Given the description of an element on the screen output the (x, y) to click on. 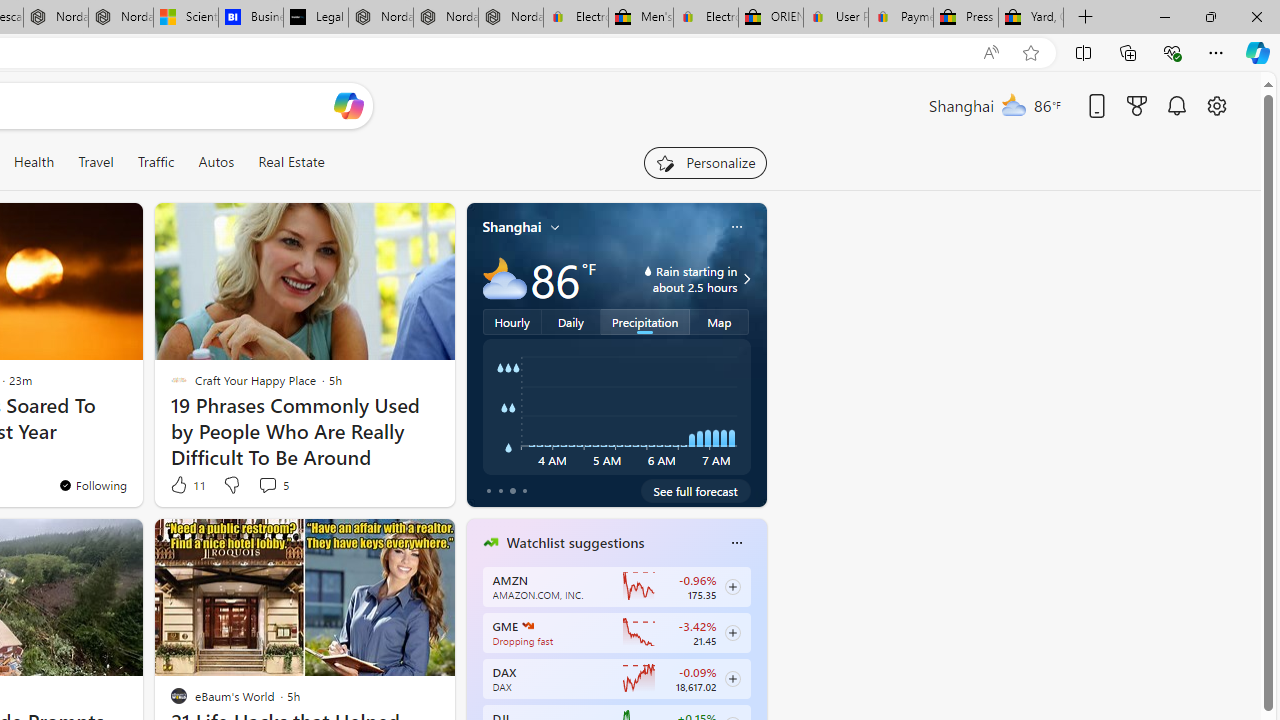
Real Estate (291, 161)
water-drop-icon Rain starting in about 2.5 hours (674, 278)
Hide this story (393, 542)
Open settings (1216, 105)
Mostly cloudy (504, 278)
4 AM 5 AM 6 AM 7 AM (616, 407)
